Given the description of an element on the screen output the (x, y) to click on. 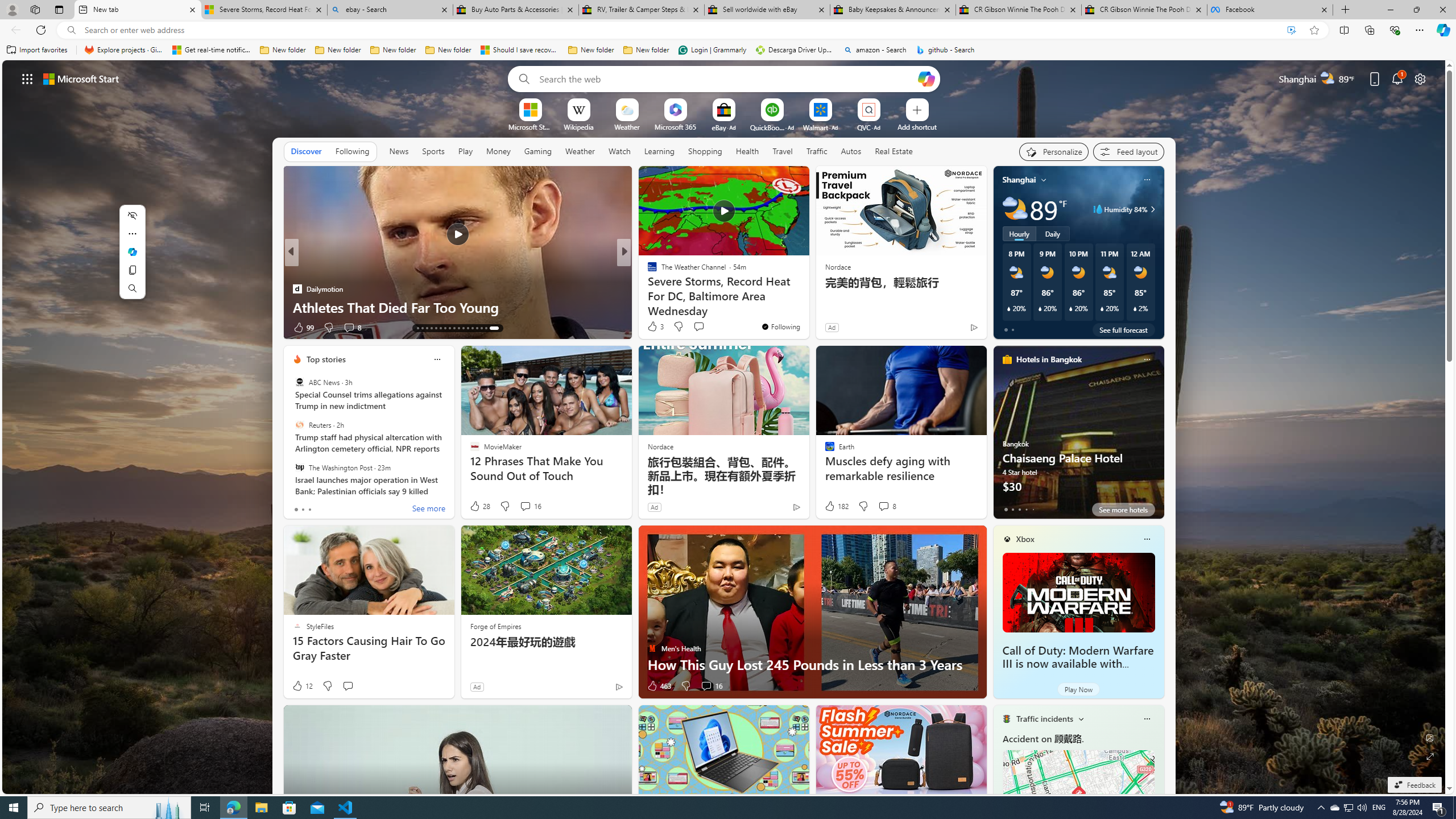
Simply More Time (647, 288)
Traffic incidents (1044, 718)
View comments 8 Comment (883, 505)
Partly cloudy (1014, 208)
21 Indicators of Early Emotional Abuse That Are Easy to Miss (807, 298)
Traffic Title Traffic Light (1005, 718)
See full forecast (1123, 329)
Shanghai (1018, 179)
Change scenarios (1080, 718)
Partly cloudy (1014, 208)
